Given the description of an element on the screen output the (x, y) to click on. 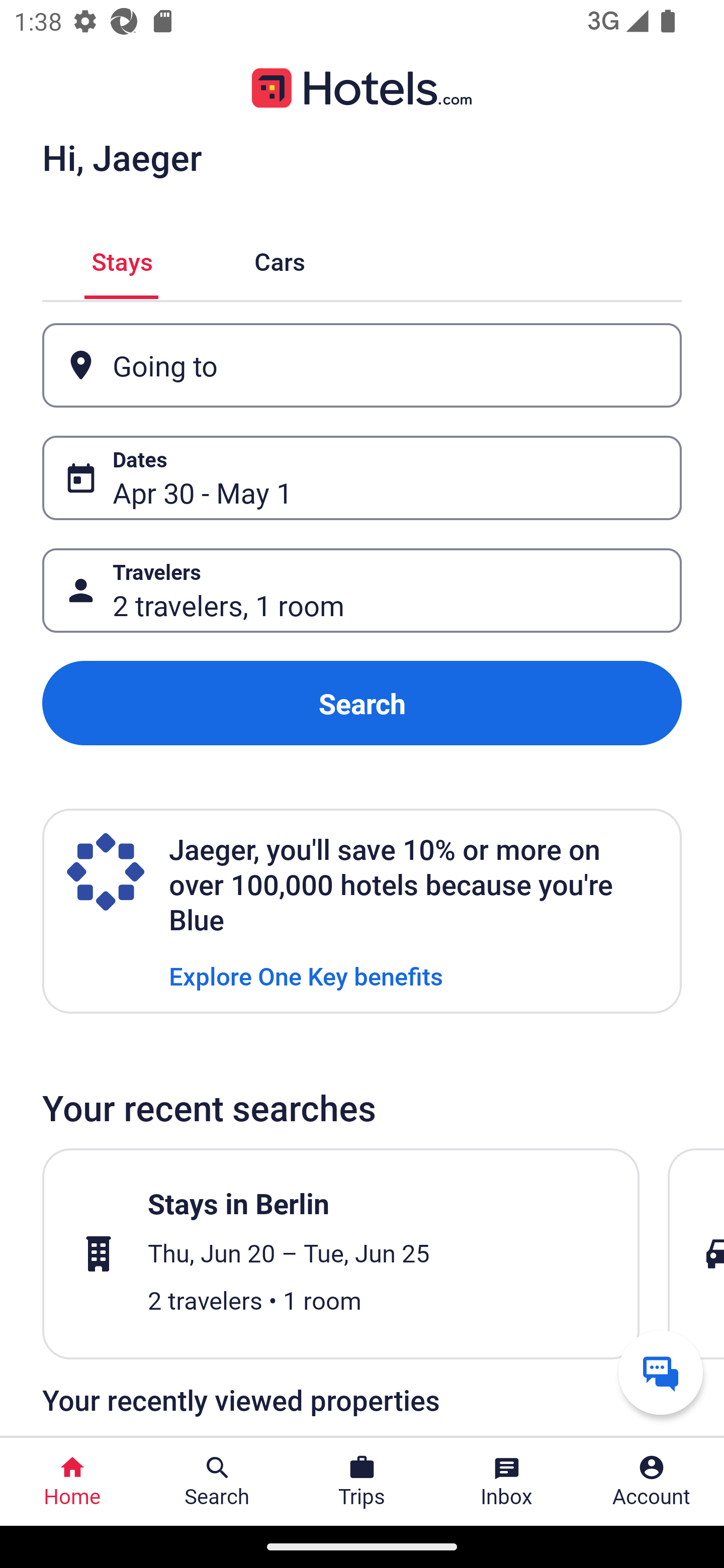
Hi, Jaeger (121, 156)
Cars (279, 259)
Going to Button (361, 365)
Dates Button Apr 30 - May 1 (361, 477)
Travelers Button 2 travelers, 1 room (361, 590)
Search (361, 702)
Get help from a virtual agent (660, 1371)
Search Search Button (216, 1481)
Trips Trips Button (361, 1481)
Inbox Inbox Button (506, 1481)
Account Profile. Button (651, 1481)
